Given the description of an element on the screen output the (x, y) to click on. 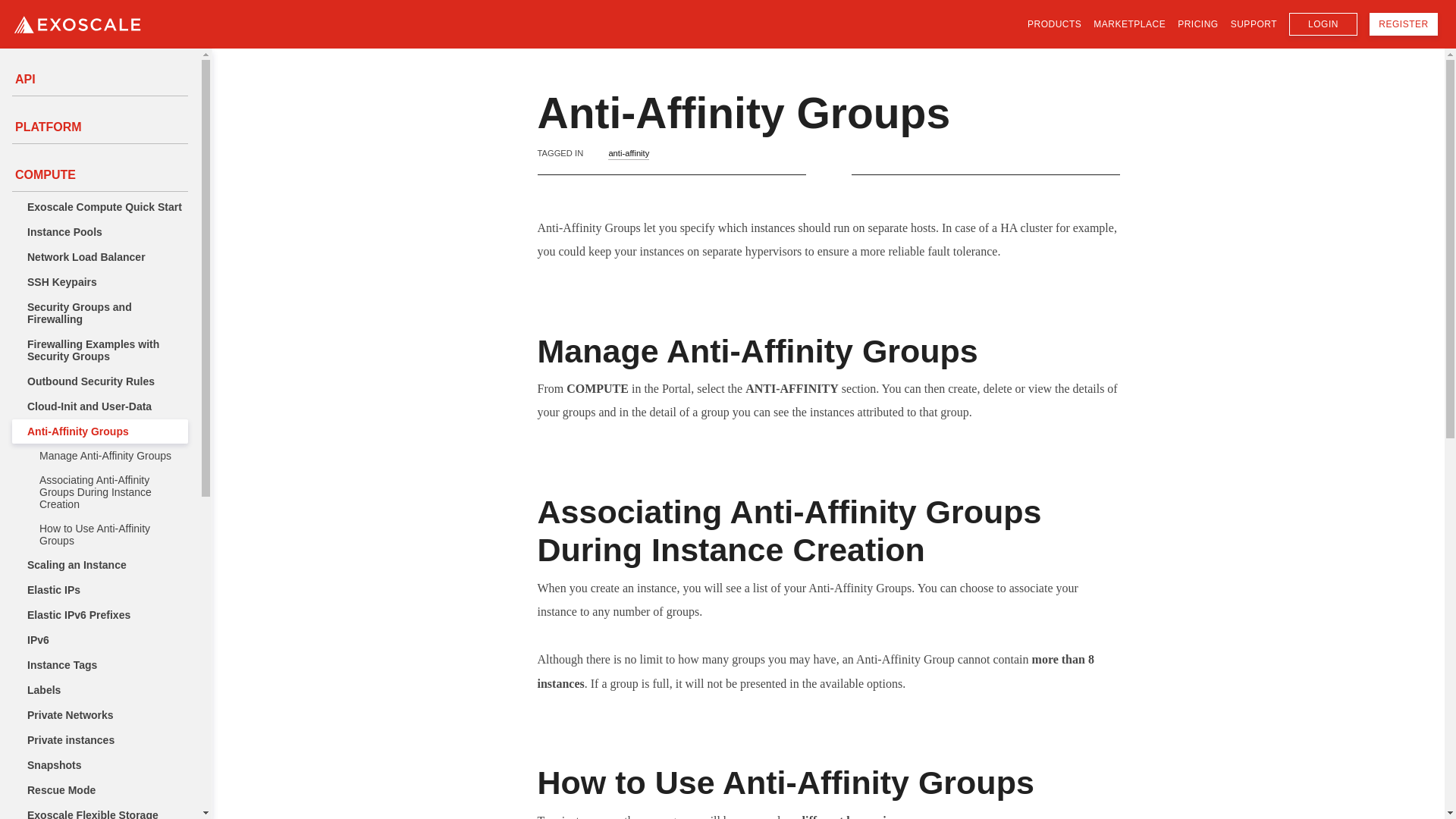
Private Networks (99, 714)
Rescue Mode (99, 790)
Snapshots (99, 764)
Private instances (99, 740)
Instance Tags (99, 664)
COMPUTE (99, 175)
Associating Anti-Affinity Groups During Instance Creation (99, 491)
REGISTER (1404, 23)
SUPPORT (1253, 24)
LOGIN (1322, 23)
SSH Keypairs (99, 282)
Elastic IPs (99, 589)
Labels (99, 689)
API (99, 79)
Elastic IPv6 Prefixes (99, 614)
